Given the description of an element on the screen output the (x, y) to click on. 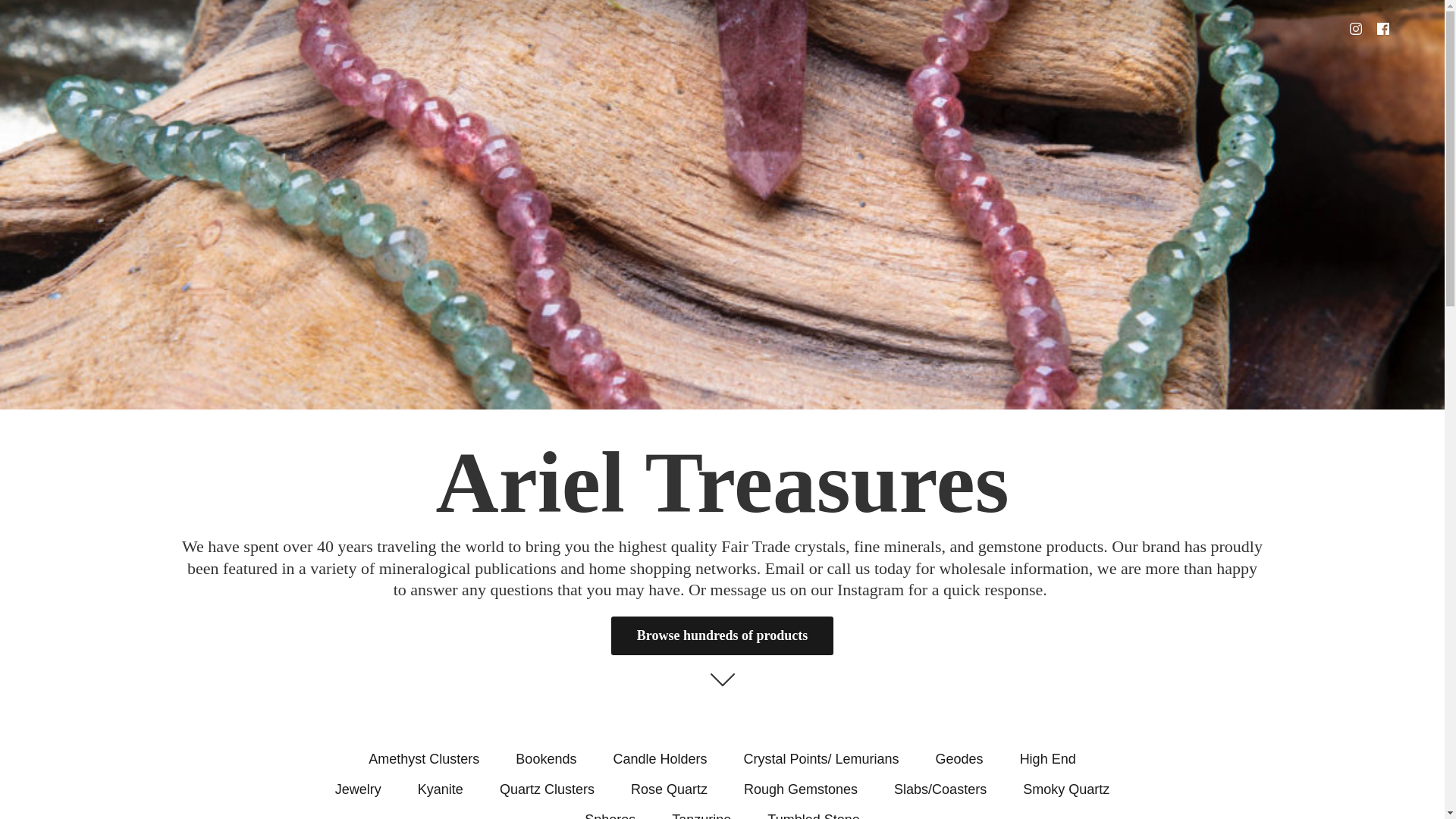
Amethyst Clusters (423, 758)
Candle Holders (659, 758)
Bookends (545, 758)
High End (1047, 758)
Jewelry (357, 789)
Geodes (960, 758)
Browse hundreds of products (721, 635)
